Given the description of an element on the screen output the (x, y) to click on. 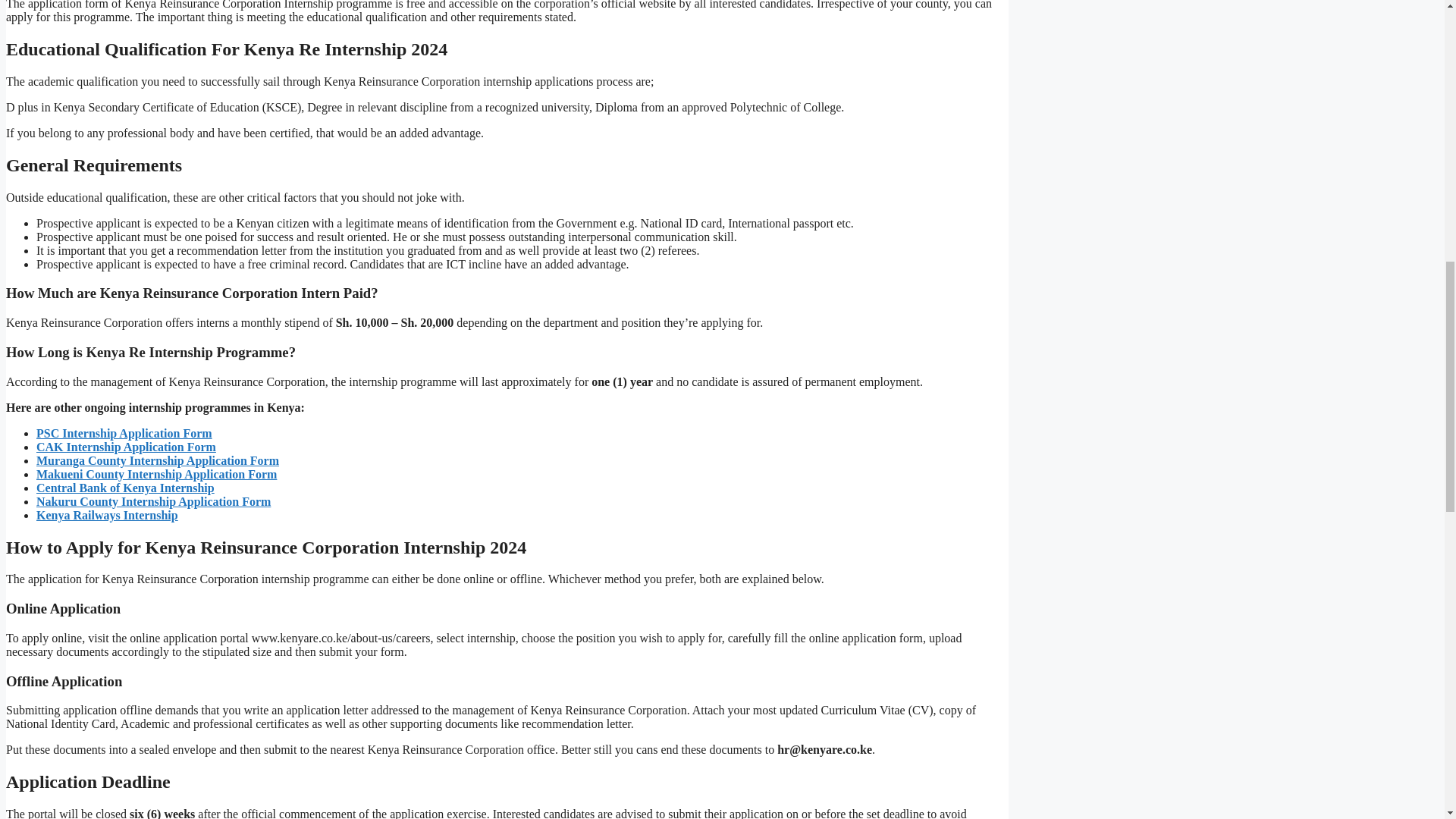
Kenya Railways Internship (106, 514)
Muranga County Internship Application Form (157, 460)
CAK Internship Application Form (125, 446)
PSC Internship Application Form (124, 432)
Central Bank of Kenya Internship (125, 487)
Makueni County Internship Application Form (156, 473)
Nakuru County Internship Application Form (153, 501)
